Given the description of an element on the screen output the (x, y) to click on. 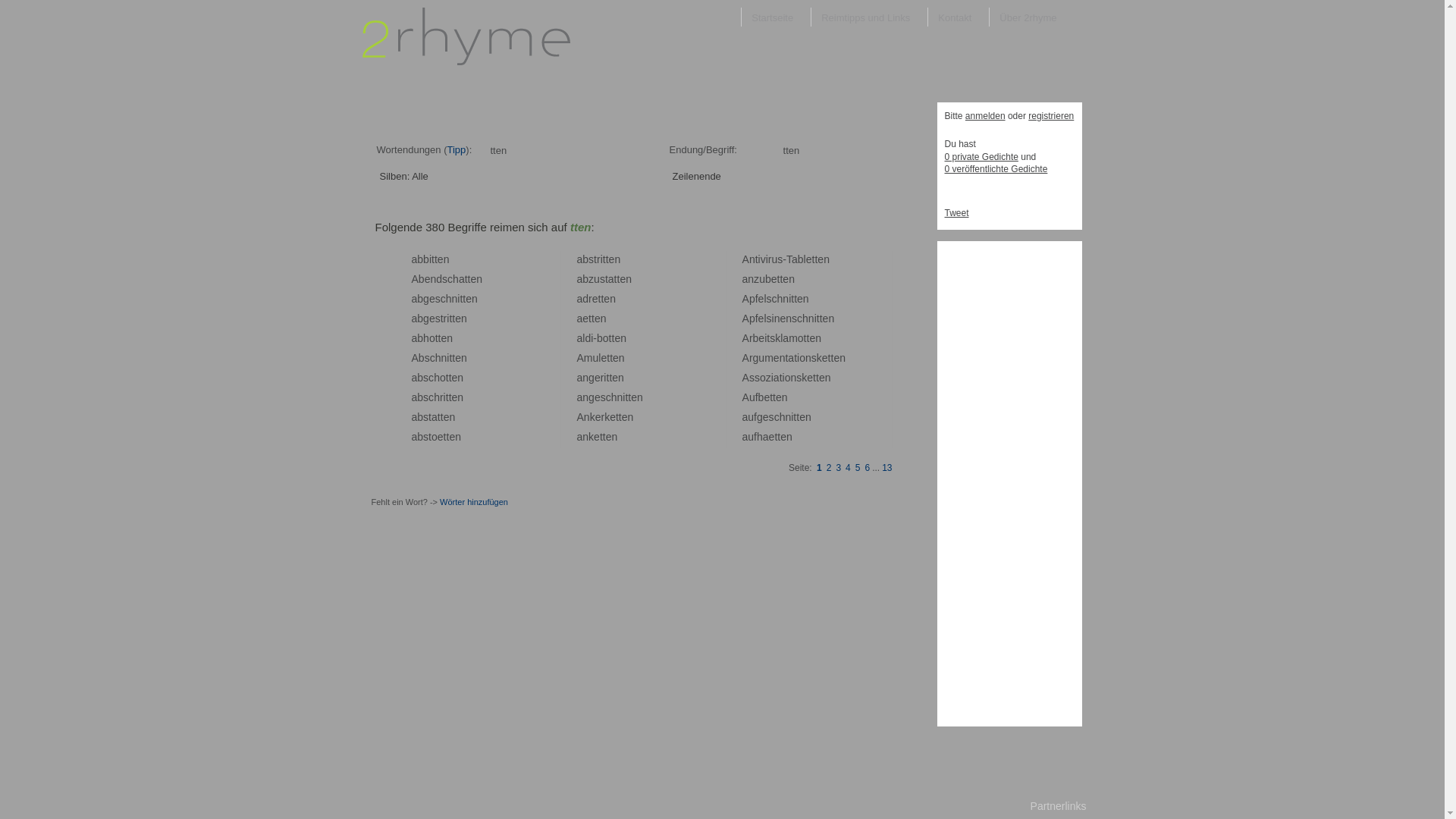
b Element type: text (420, 436)
l Element type: text (764, 298)
b Element type: text (761, 397)
i Element type: text (798, 357)
r Element type: text (598, 259)
n Element type: text (449, 338)
n Element type: text (826, 259)
4 Element type: text (848, 467)
A Element type: text (579, 357)
s Element type: text (798, 377)
t Element type: text (778, 279)
b Element type: text (768, 279)
6 Element type: text (867, 467)
e Element type: text (774, 279)
u Element type: text (774, 259)
h Element type: text (614, 397)
n Element type: text (750, 279)
registrieren Element type: text (1050, 115)
1 Element type: text (819, 467)
e Element type: text (458, 357)
n Element type: text (784, 397)
n Element type: text (793, 377)
a Element type: text (414, 298)
o Element type: text (442, 377)
t Element type: text (594, 259)
A Element type: text (745, 318)
d Element type: text (587, 338)
f Element type: text (756, 298)
s Element type: text (768, 318)
a Element type: text (414, 397)
e Element type: text (761, 338)
t Element type: text (609, 377)
e Element type: text (776, 357)
r Element type: text (602, 417)
n Element type: text (614, 436)
e Element type: text (458, 318)
e Element type: text (761, 318)
c Element type: text (432, 357)
A Element type: text (745, 338)
s Element type: text (425, 417)
d Element type: text (439, 279)
r Element type: text (441, 397)
t Element type: text (603, 259)
t Element type: text (446, 397)
t Element type: text (618, 279)
s Element type: text (437, 318)
a Element type: text (579, 377)
s Element type: text (425, 377)
t Element type: text (807, 338)
t Element type: text (780, 279)
a Element type: text (434, 417)
t Element type: text (795, 357)
i Element type: text (604, 377)
c Element type: text (799, 318)
e Element type: text (825, 357)
LinkButton Element type: text (843, 175)
e Element type: text (765, 417)
t Element type: text (817, 377)
n Element type: text (474, 298)
r Element type: text (751, 357)
n Element type: text (630, 417)
i Element type: text (789, 298)
Startseite Element type: text (775, 16)
m Element type: text (792, 338)
t Element type: text (444, 436)
f Element type: text (754, 417)
- Element type: text (784, 259)
t Element type: text (778, 436)
a Element type: text (579, 279)
t Element type: text (780, 377)
t Element type: text (599, 298)
t Element type: text (463, 298)
t Element type: text (813, 377)
t Element type: text (770, 397)
a Element type: text (414, 318)
k Element type: text (592, 417)
t Element type: text (606, 259)
f Element type: text (756, 318)
r Element type: text (769, 259)
m Element type: text (588, 357)
l Element type: text (781, 338)
t Element type: text (610, 357)
s Element type: text (794, 318)
t Element type: text (609, 338)
A Element type: text (414, 279)
e Element type: text (454, 397)
select Element type: text (473, 174)
r Element type: text (751, 338)
a Element type: text (414, 417)
h Element type: text (436, 397)
i Element type: text (447, 357)
e Element type: text (800, 298)
d Element type: text (585, 298)
n Element type: text (808, 417)
t Element type: text (785, 357)
k Element type: text (819, 357)
g Element type: text (591, 377)
n Element type: text (620, 397)
e Element type: text (614, 377)
n Element type: text (808, 357)
i Element type: text (458, 298)
a Element type: text (790, 357)
e Element type: text (446, 417)
k Element type: text (606, 417)
Kontakt Element type: text (957, 16)
anmelden Element type: text (985, 115)
f Element type: text (756, 397)
r Element type: text (602, 377)
T Element type: text (788, 259)
t Element type: text (625, 397)
t Element type: text (831, 357)
t Element type: text (600, 436)
e Element type: text (598, 417)
t Element type: text (606, 377)
a Element type: text (414, 377)
z Element type: text (590, 279)
n Element type: text (791, 279)
s Element type: text (590, 259)
n Element type: text (621, 357)
A Element type: text (579, 417)
e Element type: text (473, 279)
e Element type: text (836, 357)
n Element type: text (785, 298)
e Element type: text (454, 377)
n Element type: text (806, 298)
e Element type: text (608, 436)
a Element type: text (579, 338)
k Element type: text (803, 377)
h Element type: text (759, 436)
e Element type: text (432, 318)
a Element type: text (579, 397)
t Element type: text (592, 318)
t Element type: text (589, 318)
o Element type: text (762, 377)
l Element type: text (764, 318)
h Element type: text (780, 298)
e Element type: text (785, 279)
e Element type: text (451, 436)
A Element type: text (745, 397)
e Element type: text (595, 298)
b Element type: text (756, 338)
n Element type: text (831, 318)
h Element type: text (455, 279)
u Element type: text (761, 357)
13 Element type: text (886, 467)
e Element type: text (597, 397)
Tipp Element type: text (456, 149)
o Element type: text (800, 338)
n Element type: text (586, 417)
e Element type: text (617, 338)
e Element type: text (766, 397)
i Element type: text (430, 259)
t Element type: text (449, 377)
n Element type: text (788, 318)
b Element type: text (599, 338)
h Element type: text (436, 377)
s Element type: text (768, 298)
t Element type: text (460, 298)
a Element type: text (611, 279)
e Element type: text (611, 259)
u Element type: text (596, 357)
k Element type: text (777, 338)
n Element type: text (787, 417)
b Element type: text (421, 279)
v Element type: text (762, 259)
t Element type: text (775, 436)
i Element type: text (783, 377)
g Element type: text (756, 357)
e Element type: text (782, 318)
t Element type: text (606, 279)
t Element type: text (435, 259)
u Element type: text (762, 279)
c Element type: text (608, 397)
i Element type: text (772, 318)
e Element type: text (596, 436)
n Element type: text (623, 338)
p Element type: text (752, 318)
b Element type: text (421, 357)
c Element type: text (430, 377)
g Element type: text (426, 318)
t Element type: text (804, 338)
t Element type: text (441, 417)
n Element type: text (585, 436)
t Element type: text (612, 338)
a Element type: text (794, 259)
o Element type: text (432, 338)
h Element type: text (448, 298)
t Element type: text (436, 338)
b Element type: text (420, 338)
u Element type: text (596, 279)
i Element type: text (623, 397)
t Element type: text (438, 417)
m Element type: text (768, 357)
a Element type: text (414, 338)
t Element type: text (465, 279)
p Element type: text (752, 298)
b Element type: text (800, 259)
e Element type: text (597, 318)
n Element type: text (789, 436)
i Element type: text (601, 259)
t Element type: text (767, 338)
o Element type: text (434, 436)
Tweet Element type: text (956, 212)
a Element type: text (765, 436)
s Element type: text (437, 298)
n Element type: text (585, 377)
t Element type: text (453, 318)
i Element type: text (759, 259)
e Element type: text (597, 377)
h Element type: text (426, 338)
s Element type: text (813, 357)
g Element type: text (591, 397)
u Element type: text (750, 436)
A Element type: text (745, 259)
r Element type: text (590, 298)
t Element type: text (441, 318)
n Element type: text (617, 259)
b Element type: text (420, 377)
e Element type: text (802, 417)
e Element type: text (820, 259)
g Element type: text (426, 298)
a Element type: text (745, 417)
l Element type: text (804, 259)
t Element type: text (794, 417)
t Element type: text (439, 338)
b Element type: text (420, 417)
e Element type: text (440, 436)
- Element type: text (594, 338)
n Element type: text (818, 338)
f Element type: text (754, 436)
e Element type: text (615, 357)
e Element type: text (444, 338)
c Element type: text (776, 417)
n Element type: text (621, 377)
t Element type: text (813, 259)
e Element type: text (809, 259)
s Element type: text (425, 436)
t Element type: text (449, 397)
e Element type: text (612, 417)
c Element type: text (430, 397)
b Element type: text (420, 259)
i Element type: text (815, 318)
n Element type: text (612, 298)
t Element type: text (756, 259)
n Element type: text (628, 279)
n Element type: text (752, 259)
n Element type: text (446, 259)
LinkButton Element type: text (550, 175)
l Element type: text (599, 357)
i Element type: text (765, 338)
e Element type: text (624, 417)
e Element type: text (822, 377)
u Element type: text (752, 397)
i Element type: text (766, 259)
e Element type: text (606, 298)
t Element type: text (817, 318)
a Element type: text (579, 259)
b Element type: text (585, 279)
t Element type: text (820, 318)
2rhyme - Das deutsche Reimlexikon Element type: hover (466, 61)
n Element type: text (777, 318)
e Element type: text (427, 279)
t Element type: text (607, 357)
t Element type: text (429, 417)
h Element type: text (782, 417)
a Element type: text (414, 259)
t Element type: text (795, 298)
e Element type: text (812, 338)
s Element type: text (756, 377)
i Element type: text (444, 397)
n Element type: text (828, 377)
Partnerlinks Element type: text (1058, 798)
t Element type: text (447, 436)
n Element type: text (464, 357)
A Element type: text (745, 298)
b Element type: text (420, 397)
n Element type: text (454, 298)
t Element type: text (603, 436)
s Element type: text (602, 397)
n Element type: text (458, 436)
a Element type: text (579, 298)
e Element type: text (440, 259)
A Element type: text (745, 357)
n Element type: text (842, 357)
e Element type: text (603, 357)
t Element type: text (446, 377)
a Element type: text (745, 279)
b Element type: text (426, 259)
a Element type: text (785, 338)
s Element type: text (444, 279)
n Element type: text (432, 279)
e Element type: text (761, 298)
c Element type: text (442, 298)
i Element type: text (772, 377)
n Element type: text (460, 397)
2 Element type: text (829, 467)
3 Element type: text (838, 467)
s Element type: text (751, 377)
A Element type: text (414, 357)
c Element type: text (449, 279)
a Element type: text (579, 436)
t Element type: text (797, 417)
n Element type: text (640, 397)
t Element type: text (791, 298)
z Element type: text (756, 279)
t Element type: text (773, 397)
s Element type: text (425, 397)
a Element type: text (579, 318)
select Element type: text (765, 174)
g Element type: text (759, 417)
e Element type: text (809, 377)
e Element type: text (778, 397)
l Element type: text (583, 338)
s Element type: text (426, 357)
n Element type: text (443, 357)
e Element type: text (468, 298)
r Element type: text (445, 318)
n Element type: text (479, 279)
u Element type: text (750, 417)
i Element type: text (591, 338)
o Element type: text (605, 338)
a Element type: text (745, 436)
a Element type: text (461, 279)
e Element type: text (633, 397)
o Element type: text (787, 377)
e Element type: text (585, 318)
t Element type: text (829, 357)
t Element type: text (449, 357)
t Element type: text (453, 357)
n Element type: text (451, 417)
5 Element type: text (857, 467)
t Element type: text (619, 417)
Reimtipps und Links Element type: text (868, 16)
z Element type: text (768, 377)
a Element type: text (776, 377)
e Element type: text (825, 318)
s Element type: text (602, 279)
o Element type: text (802, 357)
n Element type: text (782, 357)
s Element type: text (779, 259)
s Element type: text (772, 338)
h Element type: text (805, 318)
A Element type: text (745, 377)
t Element type: text (615, 279)
t Element type: text (601, 298)
n Element type: text (460, 377)
i Element type: text (447, 318)
n Element type: text (585, 397)
n Element type: text (811, 318)
e Element type: text (783, 436)
c Element type: text (774, 298)
b Element type: text (420, 318)
b Element type: text (420, 298)
b Element type: text (585, 259)
t Element type: text (449, 318)
0 private Gedichte Element type: text (981, 156)
e Element type: text (432, 298)
k Element type: text (590, 436)
n Element type: text (603, 318)
t Element type: text (432, 259)
e Element type: text (622, 279)
h Element type: text (438, 357)
n Element type: text (464, 318)
t Element type: text (628, 397)
s Element type: text (771, 417)
e Element type: text (771, 436)
i Element type: text (791, 417)
t Element type: text (429, 436)
t Element type: text (616, 417)
a Element type: text (414, 436)
t Element type: text (468, 279)
t Element type: text (815, 259)
